Given the description of an element on the screen output the (x, y) to click on. 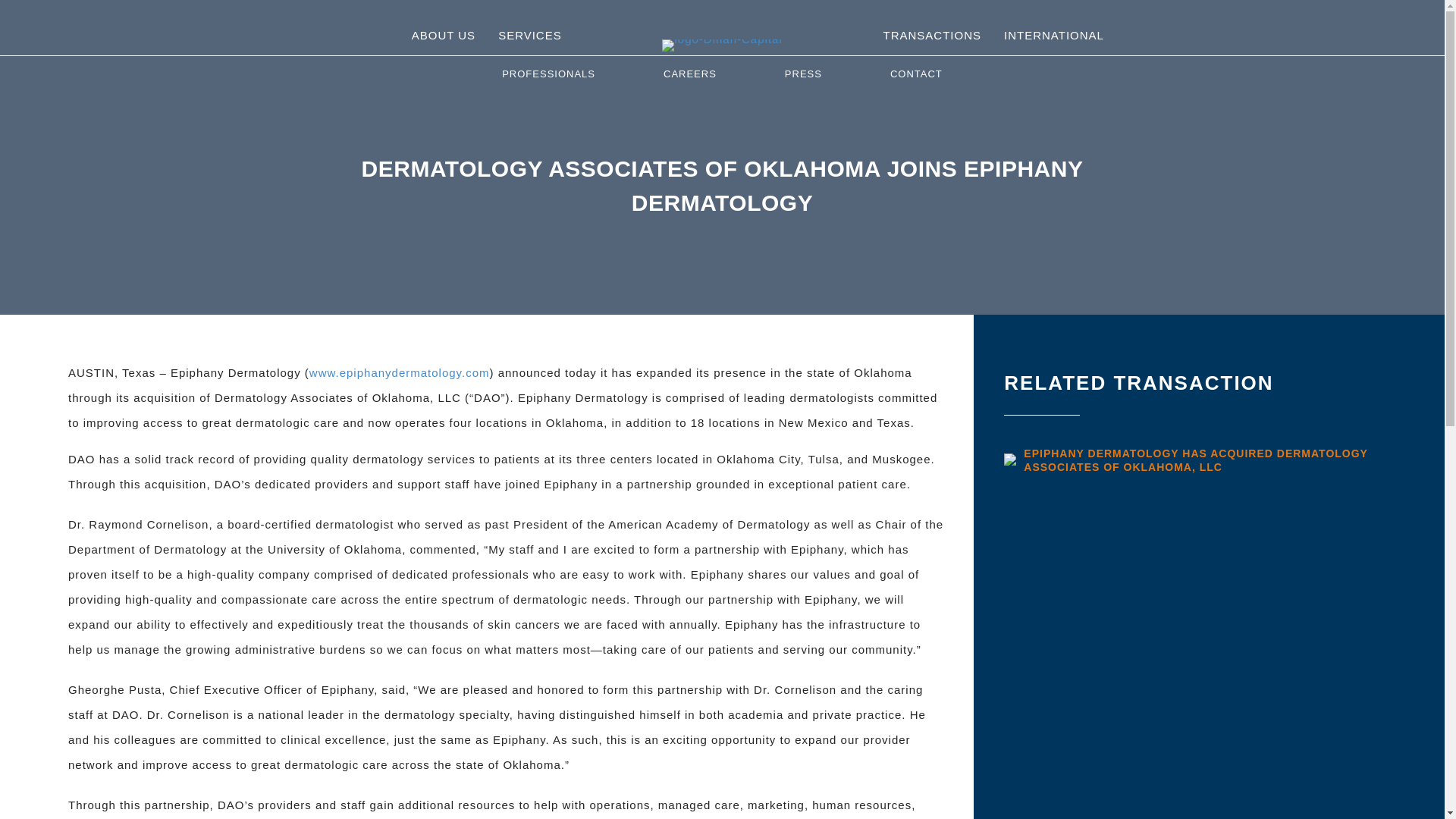
PROFESSIONALS (548, 74)
logo-Dinan-Capital (721, 45)
INTERNATIONAL (1053, 35)
PRESS (802, 74)
TRANSACTIONS (931, 35)
CONTACT (916, 74)
ABOUT US (443, 35)
SERVICES (529, 35)
www.epiphanydermatology.com (398, 372)
CAREERS (689, 74)
